Given the description of an element on the screen output the (x, y) to click on. 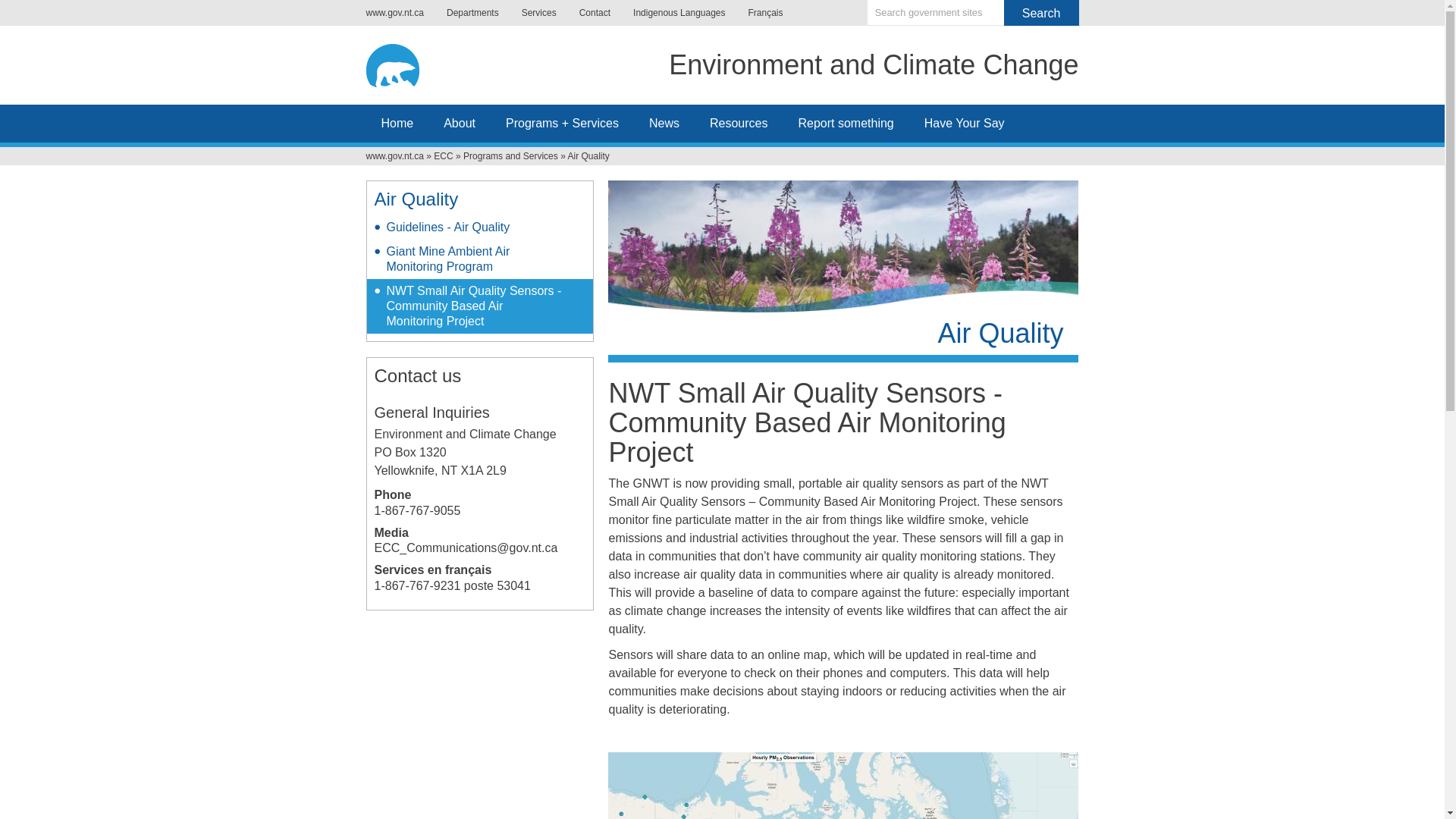
Home (873, 68)
Departments (473, 12)
Contact (594, 12)
About (459, 123)
Services (539, 12)
Home (396, 123)
Environment and Climate Change (873, 68)
Indigenous Languages (678, 12)
News (663, 123)
www.gov.nt.ca (399, 12)
Search (1041, 12)
Home (405, 62)
Search (1041, 12)
